Given the description of an element on the screen output the (x, y) to click on. 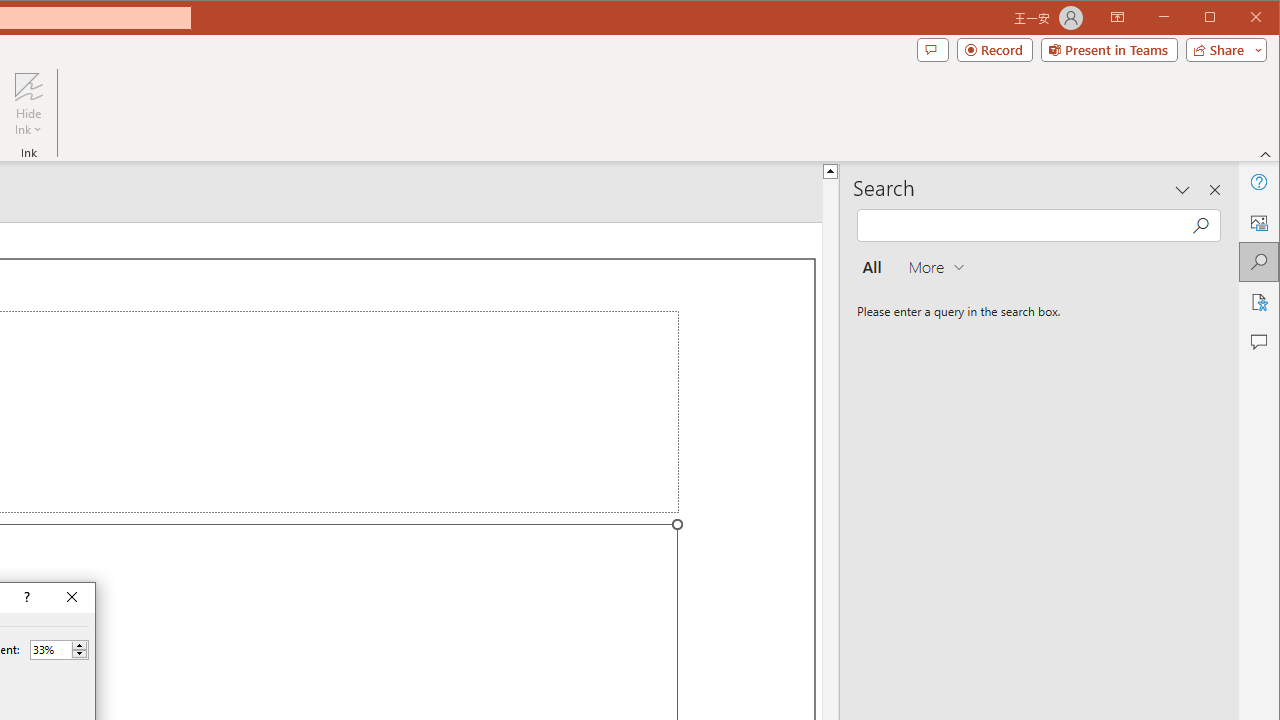
Percent (50, 649)
Percent (59, 650)
